Given the description of an element on the screen output the (x, y) to click on. 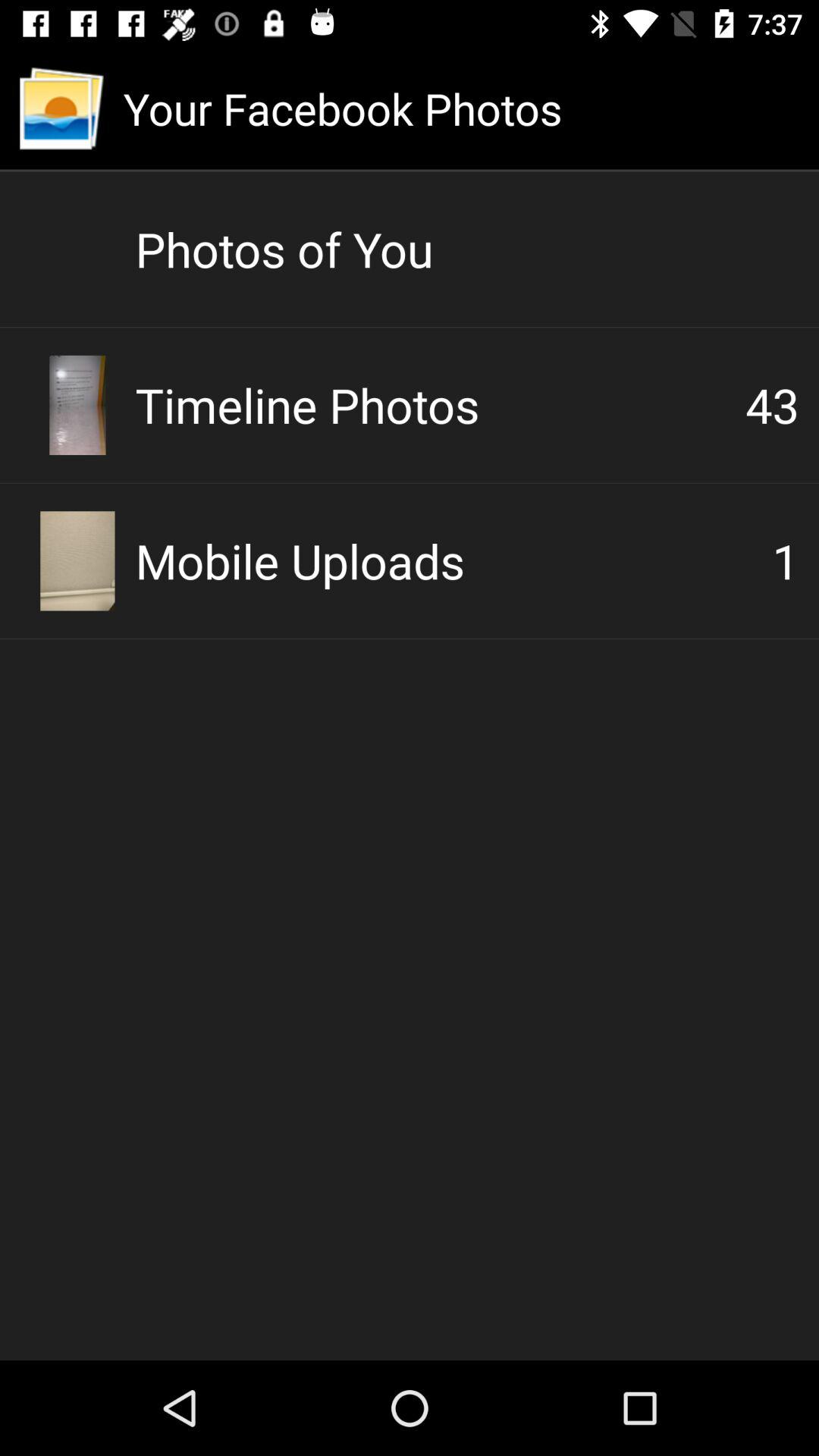
flip until mobile uploads icon (453, 560)
